Given the description of an element on the screen output the (x, y) to click on. 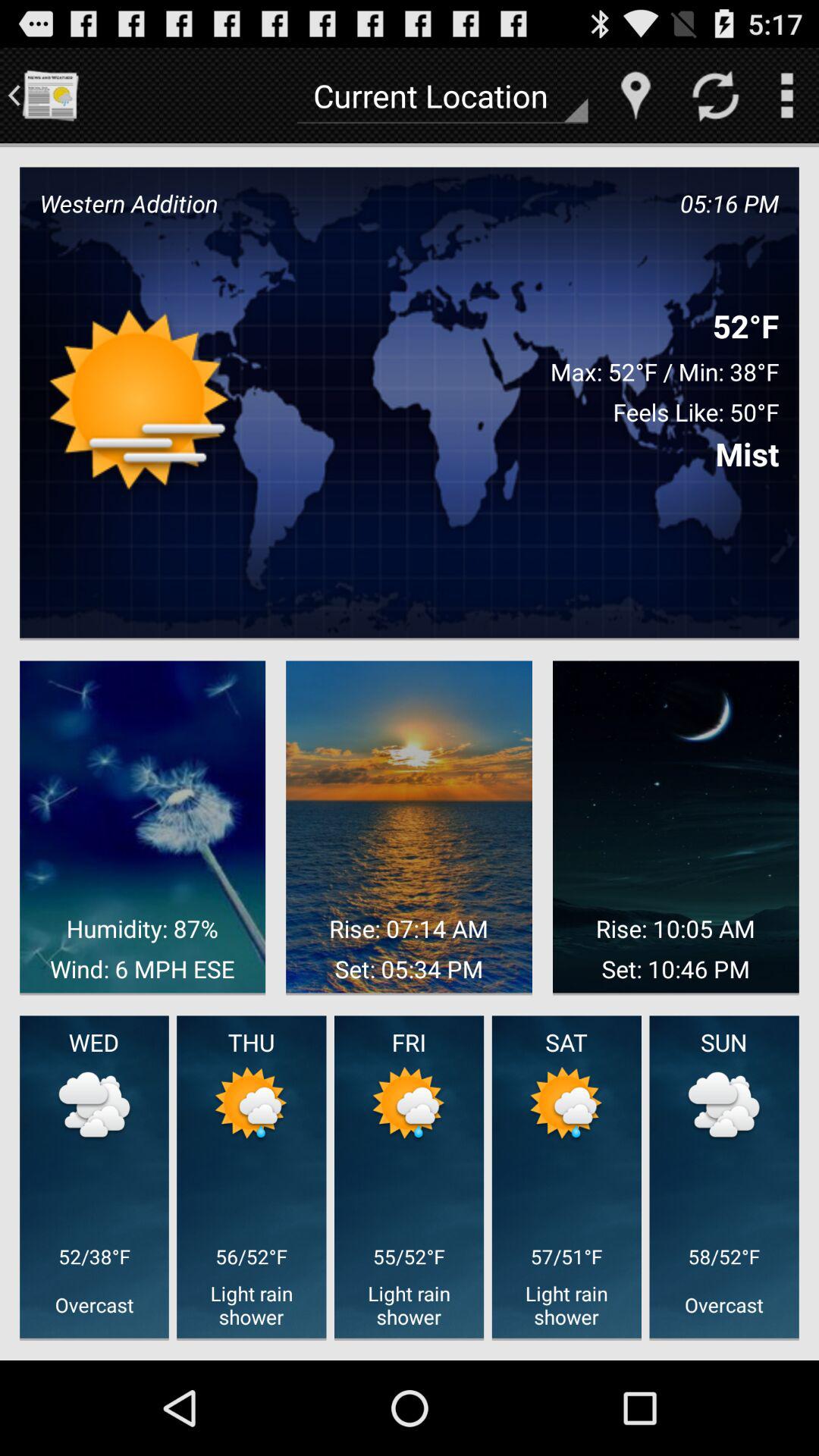
go back (49, 95)
